Given the description of an element on the screen output the (x, y) to click on. 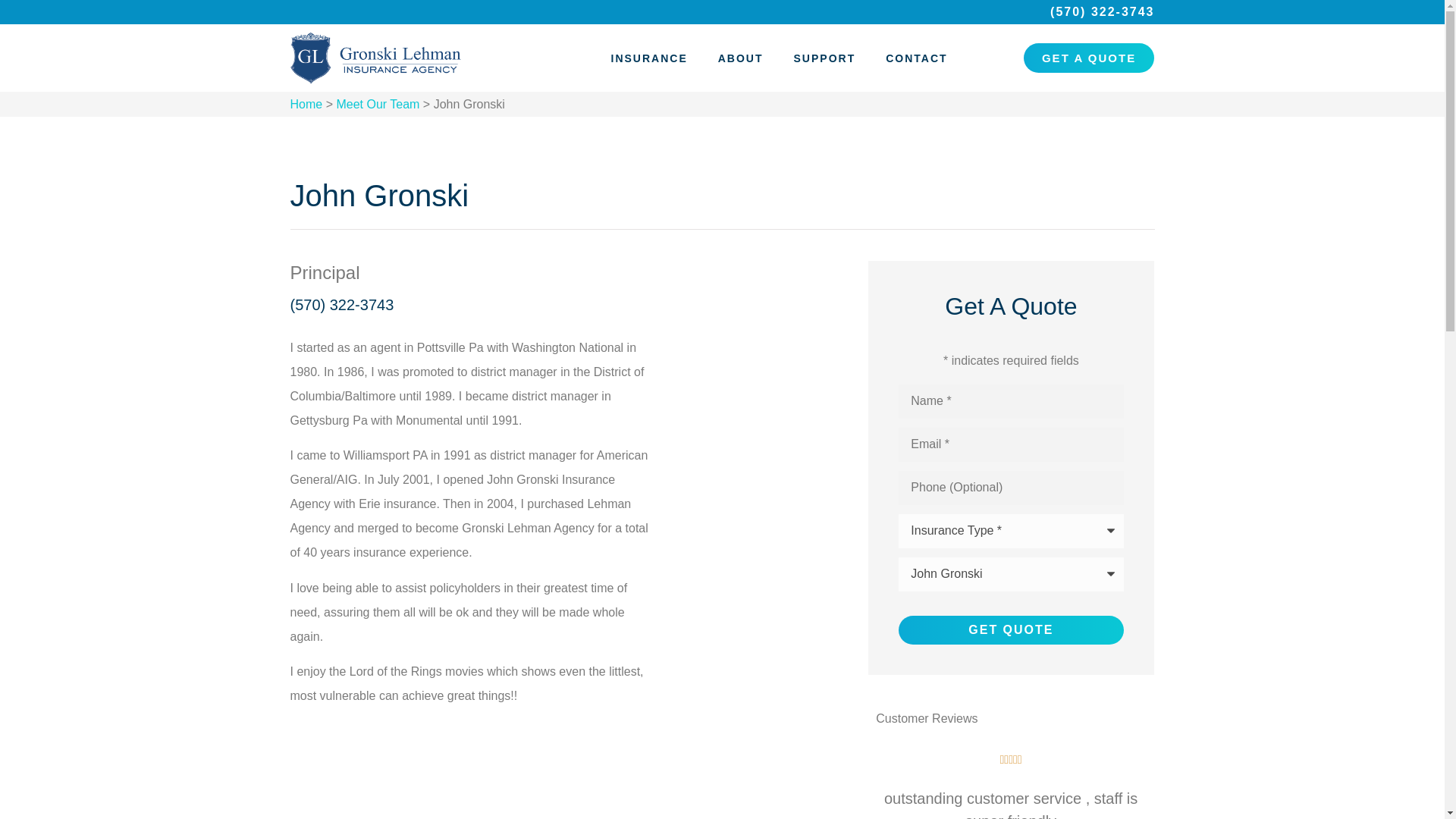
CONTACT (916, 58)
INSURANCE (649, 58)
SUPPORT (824, 58)
ABOUT (740, 58)
Get Quote (1010, 629)
